Given the description of an element on the screen output the (x, y) to click on. 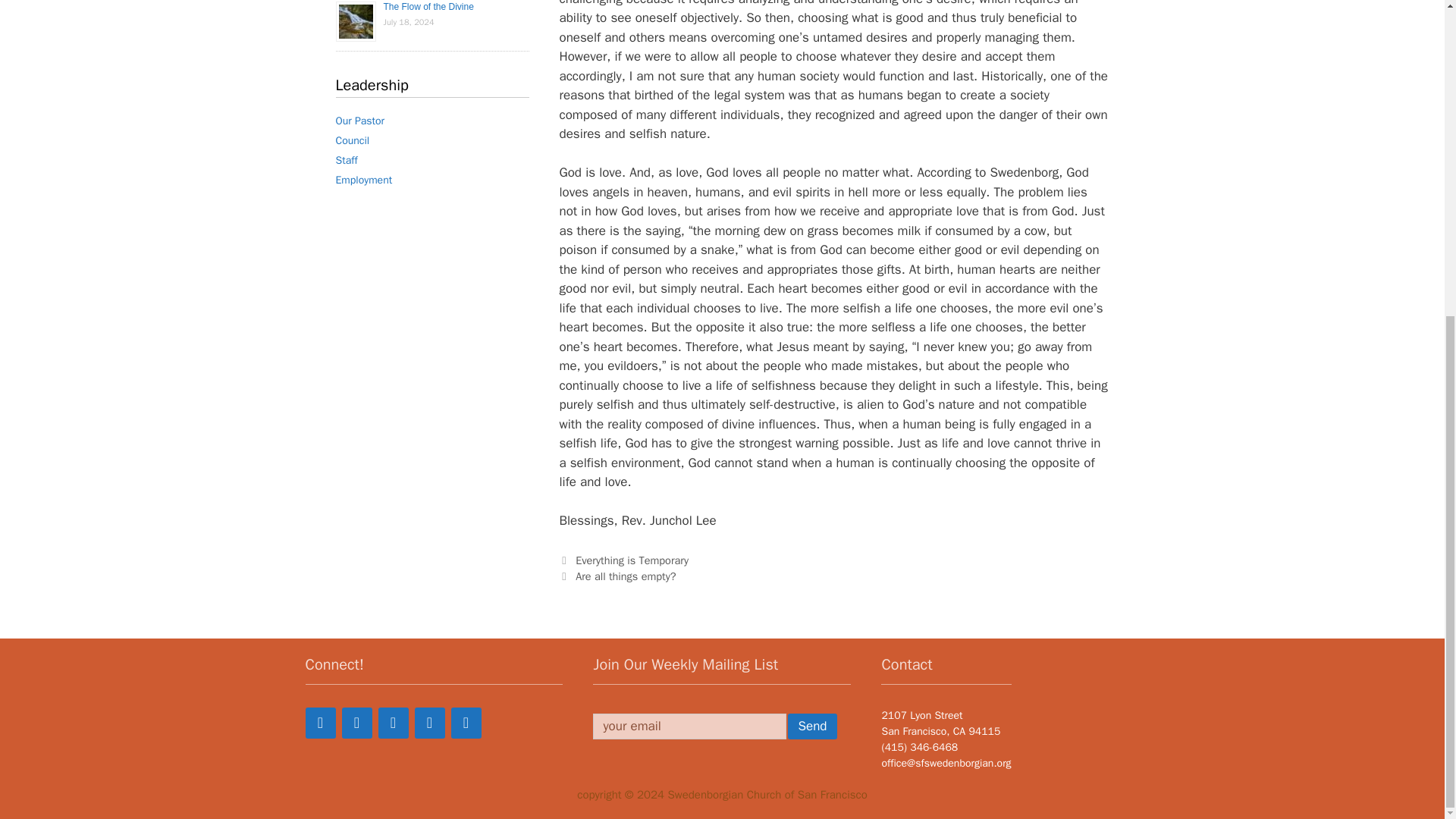
your email (689, 726)
Facebook (319, 722)
Twitter (355, 722)
Send (811, 726)
Instagram (464, 722)
Yelp (392, 722)
YouTube (428, 722)
